Given the description of an element on the screen output the (x, y) to click on. 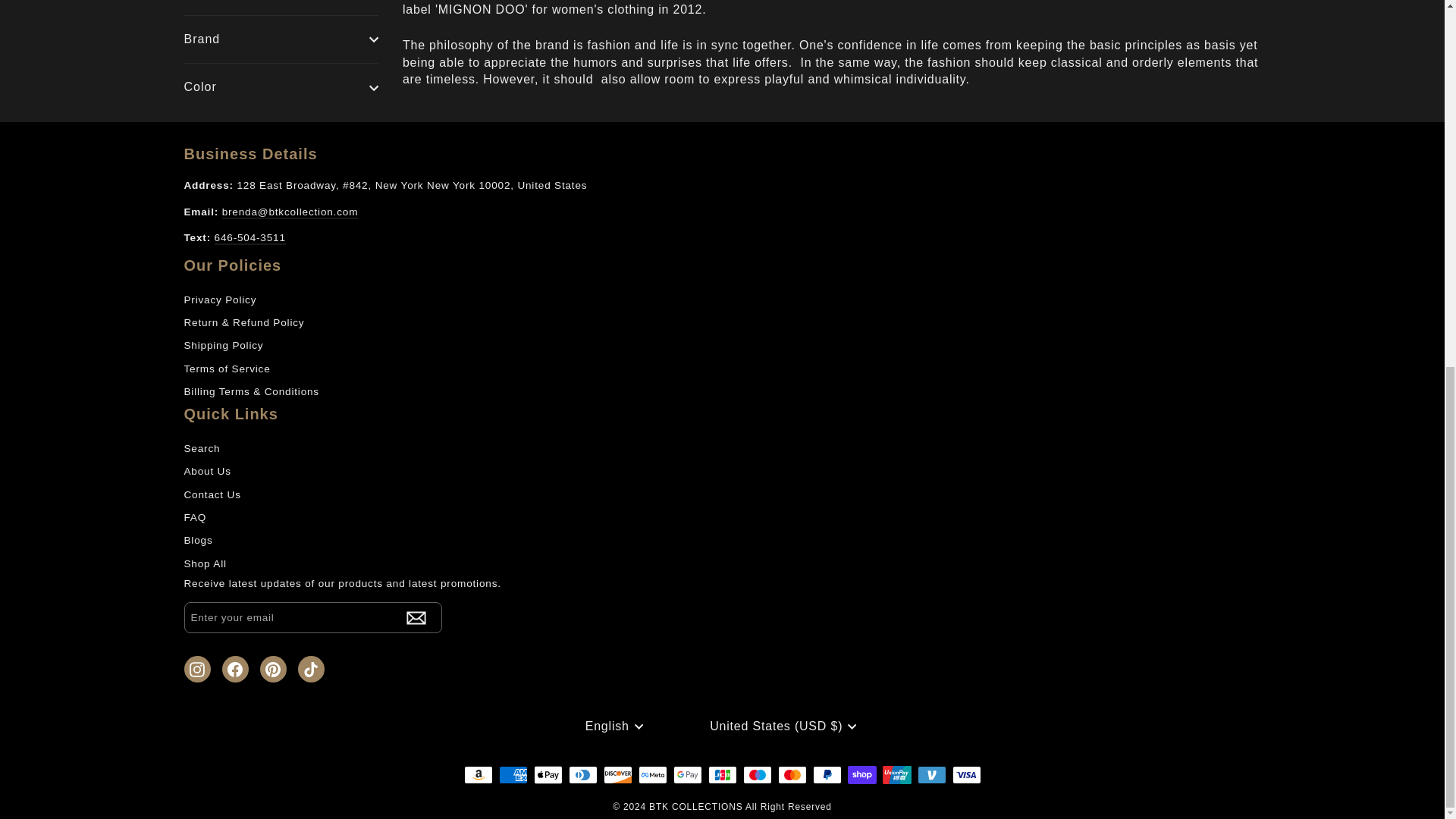
tel:646-504-3511 (249, 237)
Amazon (478, 774)
BTK COLLECTIONS on Pinterest (272, 669)
BTK COLLECTIONS on Instagram (196, 669)
BTK COLLECTIONS on TikTok (310, 669)
BTK COLLECTIONS on Facebook (234, 669)
